Given the description of an element on the screen output the (x, y) to click on. 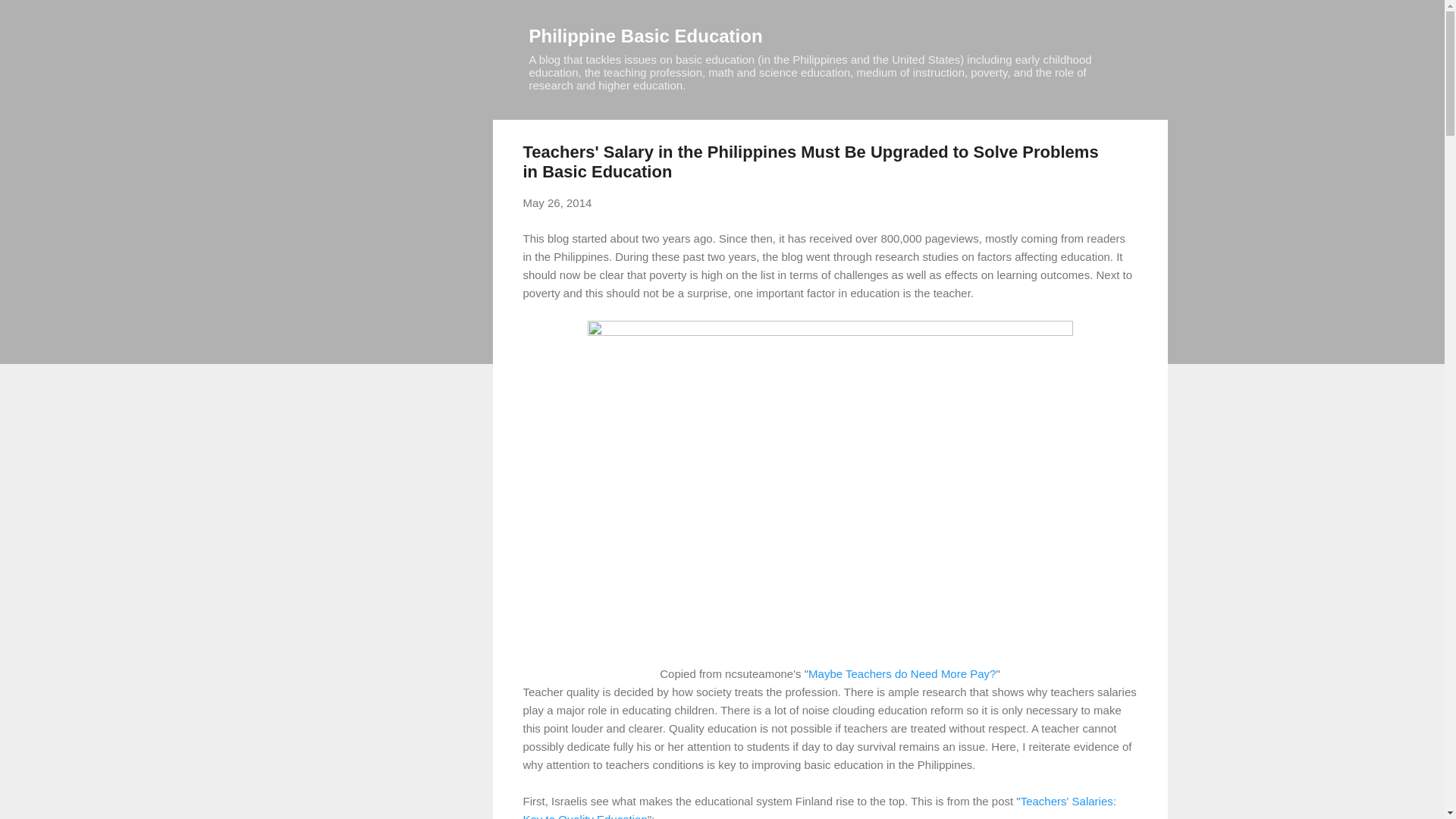
Search (29, 18)
Maybe Teachers do Need More Pay? (901, 673)
Teachers' Salaries: Key to Quality Education (819, 806)
May 26, 2014 (557, 202)
Philippine Basic Education (645, 35)
permanent link (557, 202)
